Given the description of an element on the screen output the (x, y) to click on. 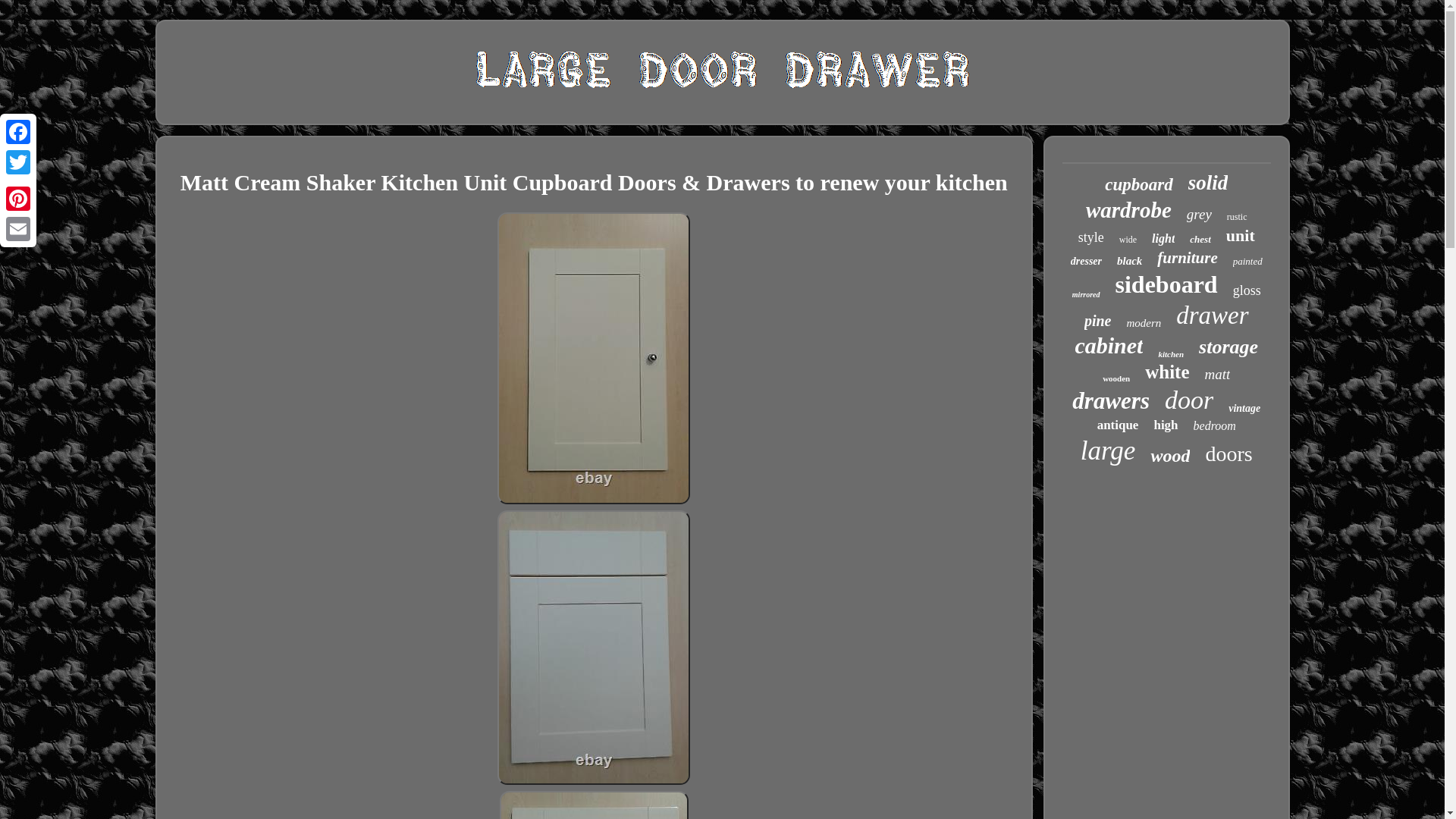
kitchen (1170, 353)
mirrored (1085, 294)
wooden (1115, 378)
drawers (1110, 400)
dresser (1086, 261)
door (1188, 399)
modern (1142, 323)
wardrobe (1129, 210)
matt (1217, 374)
sideboard (1166, 284)
